Given the description of an element on the screen output the (x, y) to click on. 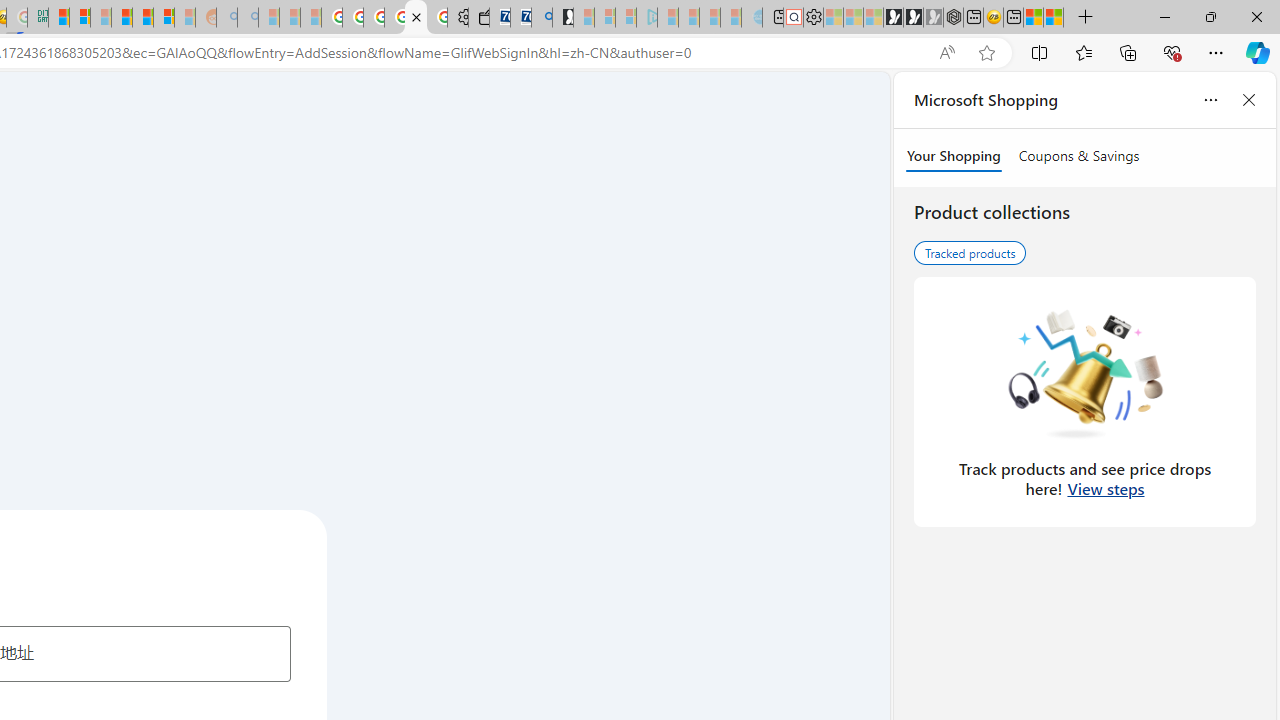
Cheap Car Rentals - Save70.com (520, 17)
Wallet (478, 17)
Play Free Online Games | Games from Microsoft Start (893, 17)
MSNBC - MSN (58, 17)
Kinda Frugal - MSN (143, 17)
